Given the description of an element on the screen output the (x, y) to click on. 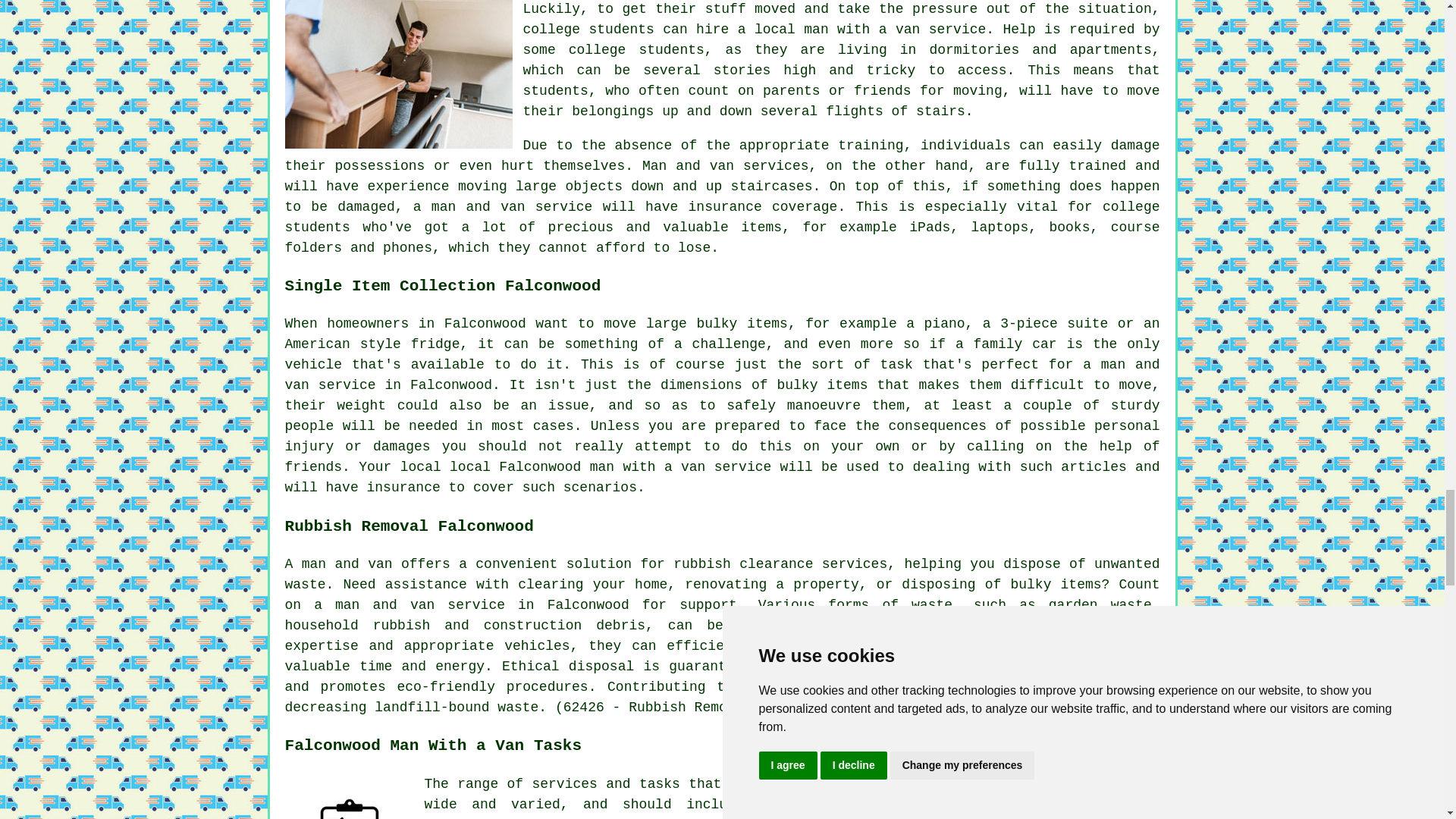
man with a van service (680, 467)
Student Moves Falconwood (398, 74)
Man With a Van Tasks Falconwood (349, 796)
